Given the description of an element on the screen output the (x, y) to click on. 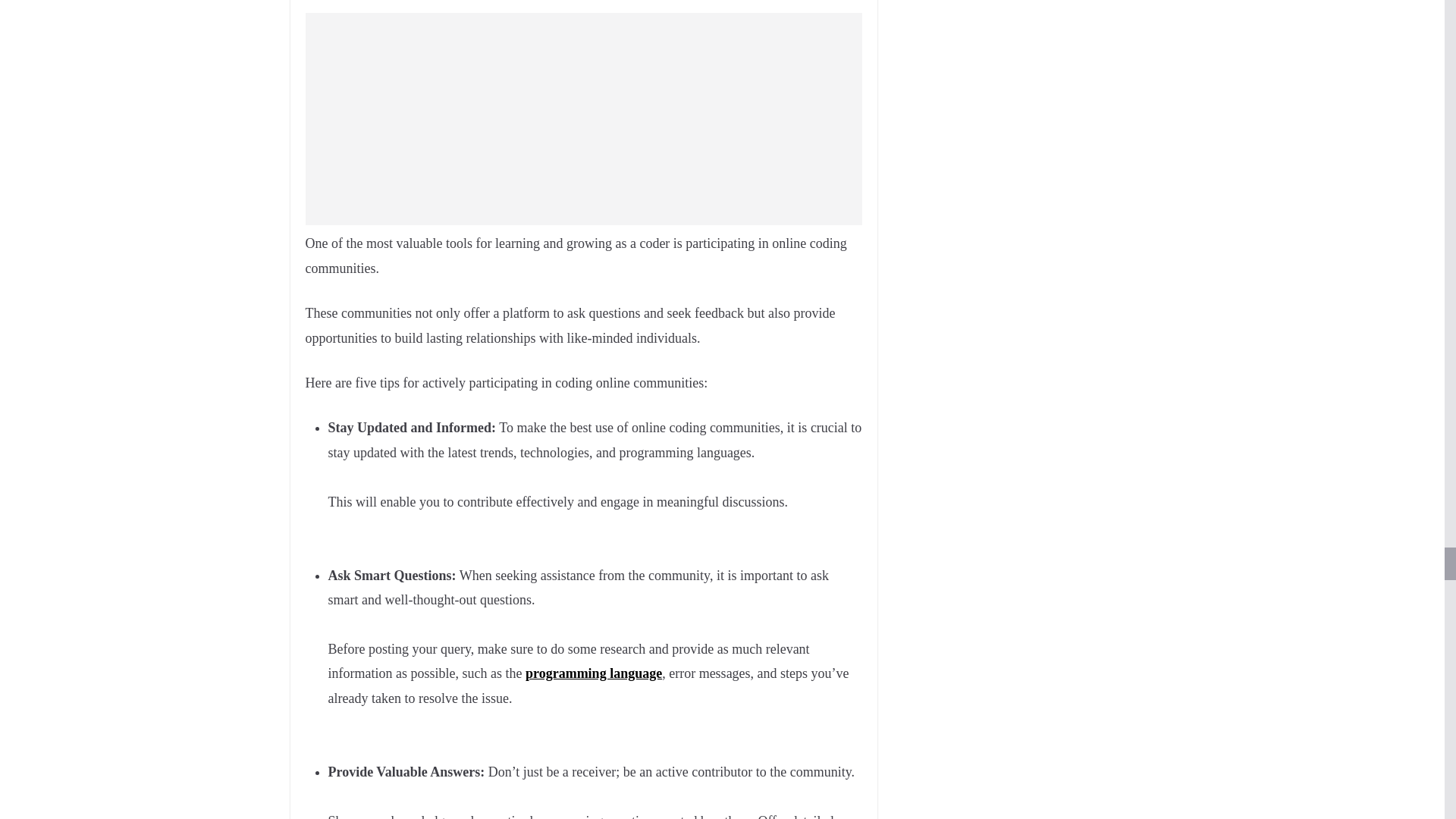
programming language (593, 672)
